Given the description of an element on the screen output the (x, y) to click on. 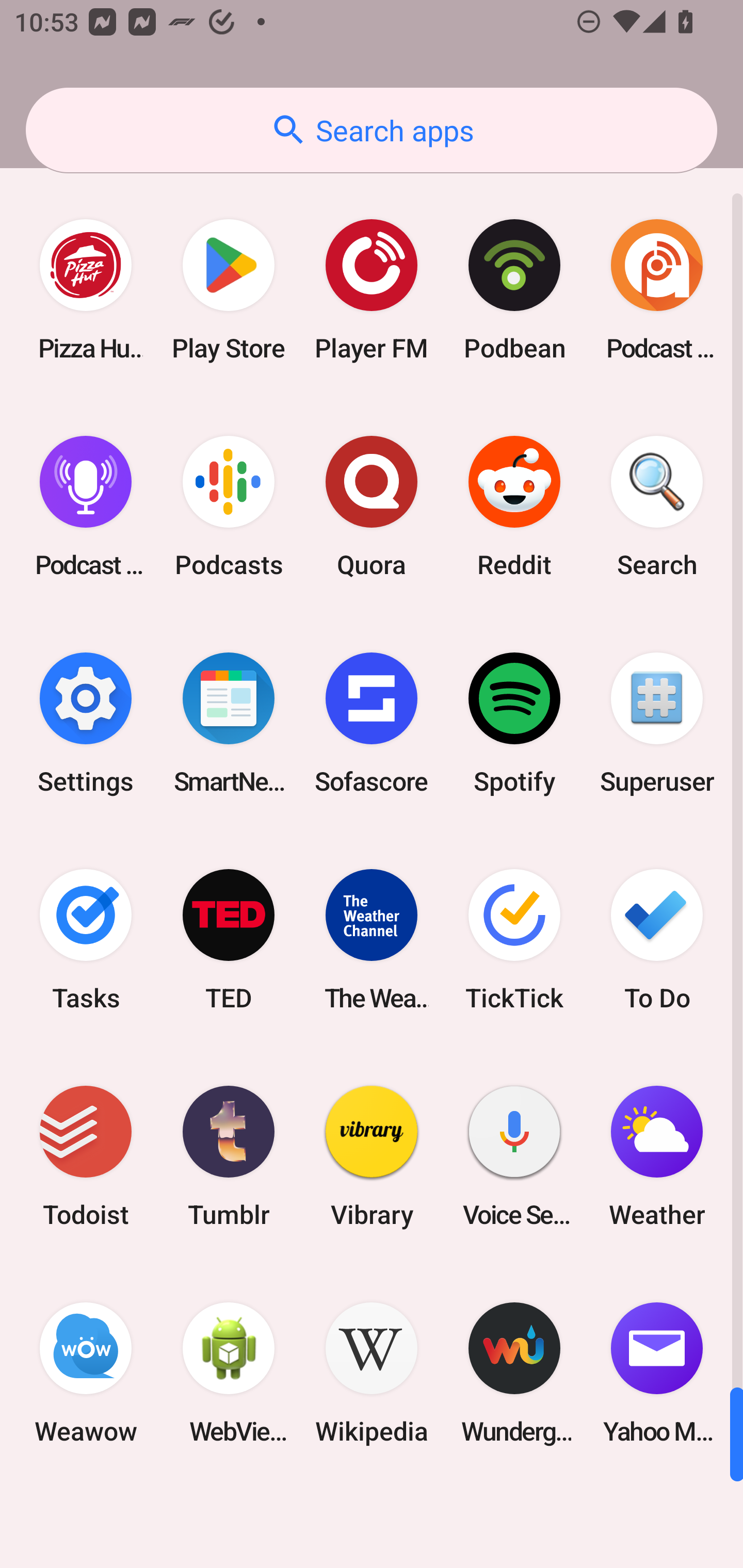
  Search apps (371, 130)
Pizza Hut HK & Macau (85, 289)
Play Store (228, 289)
Player FM (371, 289)
Podbean (514, 289)
Podcast Addict (656, 289)
Podcast Player (85, 506)
Podcasts (228, 506)
Quora (371, 506)
Reddit (514, 506)
Search (656, 506)
Settings (85, 722)
SmartNews (228, 722)
Sofascore (371, 722)
Spotify (514, 722)
Superuser (656, 722)
Tasks (85, 939)
TED (228, 939)
The Weather Channel (371, 939)
TickTick (514, 939)
To Do (656, 939)
Todoist (85, 1156)
Tumblr (228, 1156)
Vibrary (371, 1156)
Voice Search (514, 1156)
Weather (656, 1156)
Weawow (85, 1373)
WebView Browser Tester (228, 1373)
Wikipedia (371, 1373)
Wunderground (514, 1373)
Yahoo Mail (656, 1373)
